Given the description of an element on the screen output the (x, y) to click on. 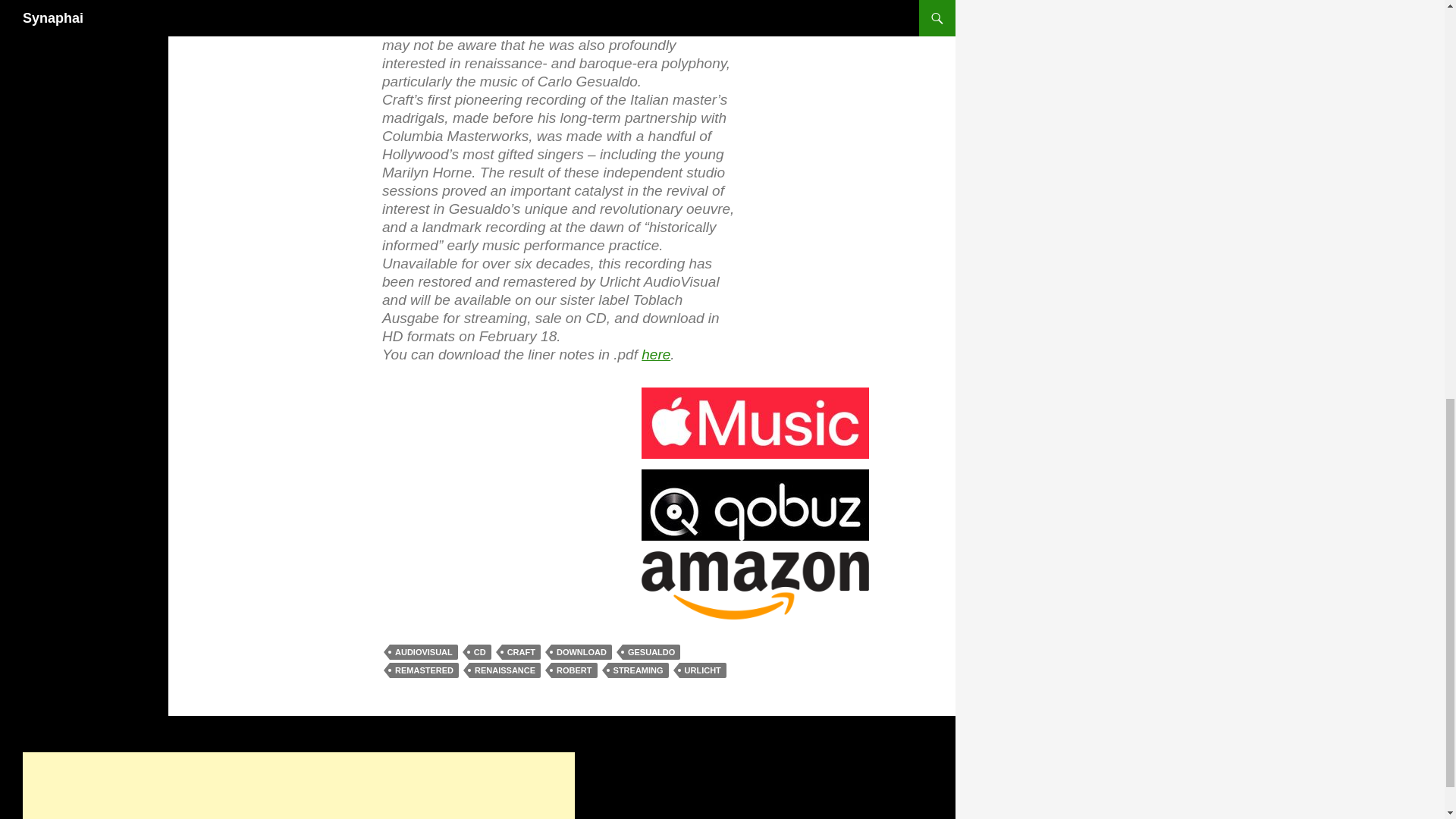
CD (480, 652)
URLICHT (702, 670)
REMASTERED (424, 670)
here (655, 354)
GESUALDO (651, 652)
RENAISSANCE (504, 670)
DOWNLOAD (581, 652)
ROBERT (573, 670)
AUDIOVISUAL (424, 652)
STREAMING (638, 670)
